Given the description of an element on the screen output the (x, y) to click on. 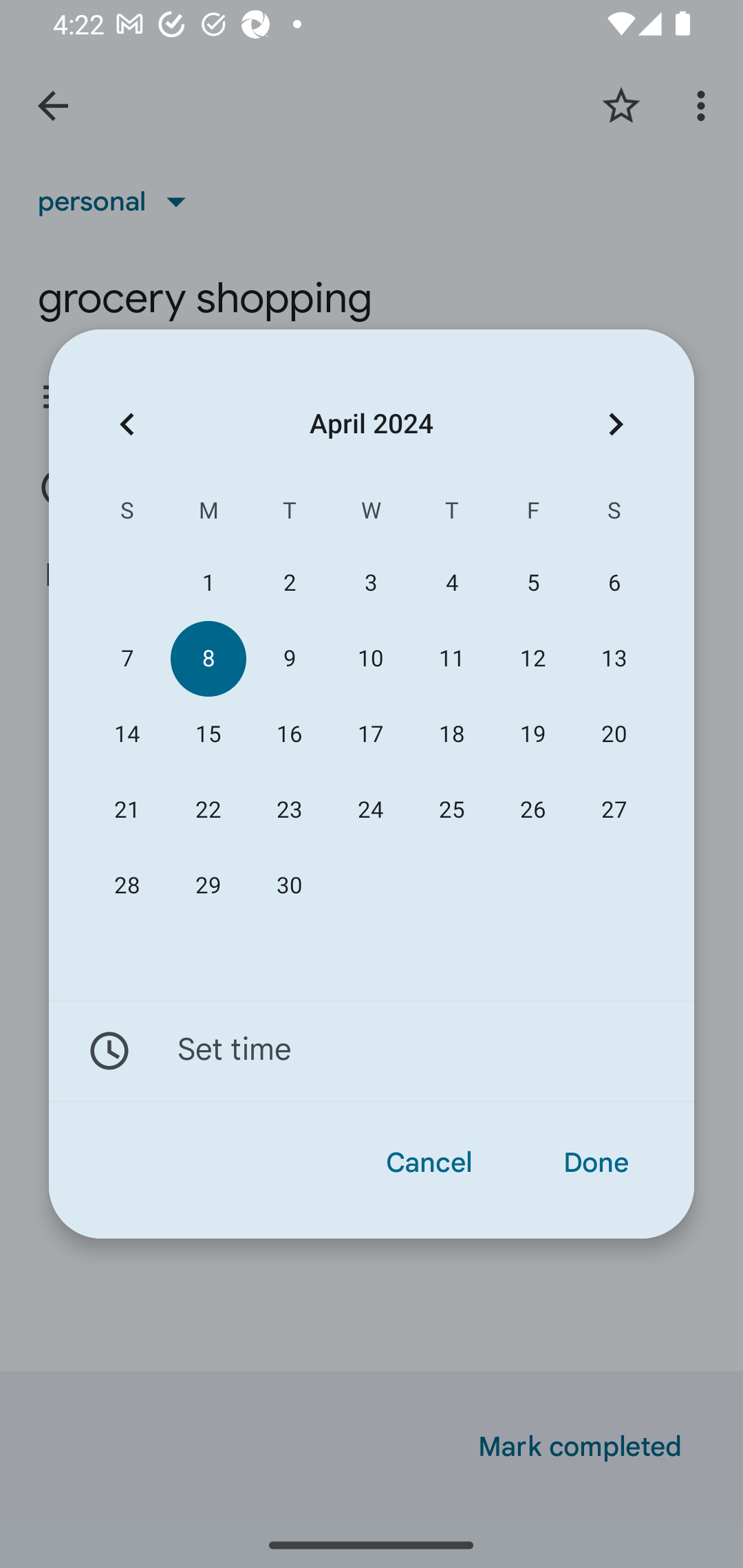
Previous month (126, 424)
Next month (615, 424)
1 01 April 2024 (207, 582)
2 02 April 2024 (288, 582)
3 03 April 2024 (370, 582)
4 04 April 2024 (451, 582)
5 05 April 2024 (532, 582)
6 06 April 2024 (613, 582)
7 07 April 2024 (126, 658)
8 08 April 2024 (207, 658)
9 09 April 2024 (288, 658)
10 10 April 2024 (370, 658)
11 11 April 2024 (451, 658)
12 12 April 2024 (532, 658)
13 13 April 2024 (613, 658)
14 14 April 2024 (126, 734)
15 15 April 2024 (207, 734)
16 16 April 2024 (288, 734)
17 17 April 2024 (370, 734)
18 18 April 2024 (451, 734)
19 19 April 2024 (532, 734)
20 20 April 2024 (613, 734)
21 21 April 2024 (126, 810)
22 22 April 2024 (207, 810)
23 23 April 2024 (288, 810)
24 24 April 2024 (370, 810)
25 25 April 2024 (451, 810)
26 26 April 2024 (532, 810)
27 27 April 2024 (613, 810)
28 28 April 2024 (126, 885)
29 29 April 2024 (207, 885)
30 30 April 2024 (288, 885)
Set time (371, 1050)
Cancel (429, 1162)
Done (595, 1162)
